Given the description of an element on the screen output the (x, y) to click on. 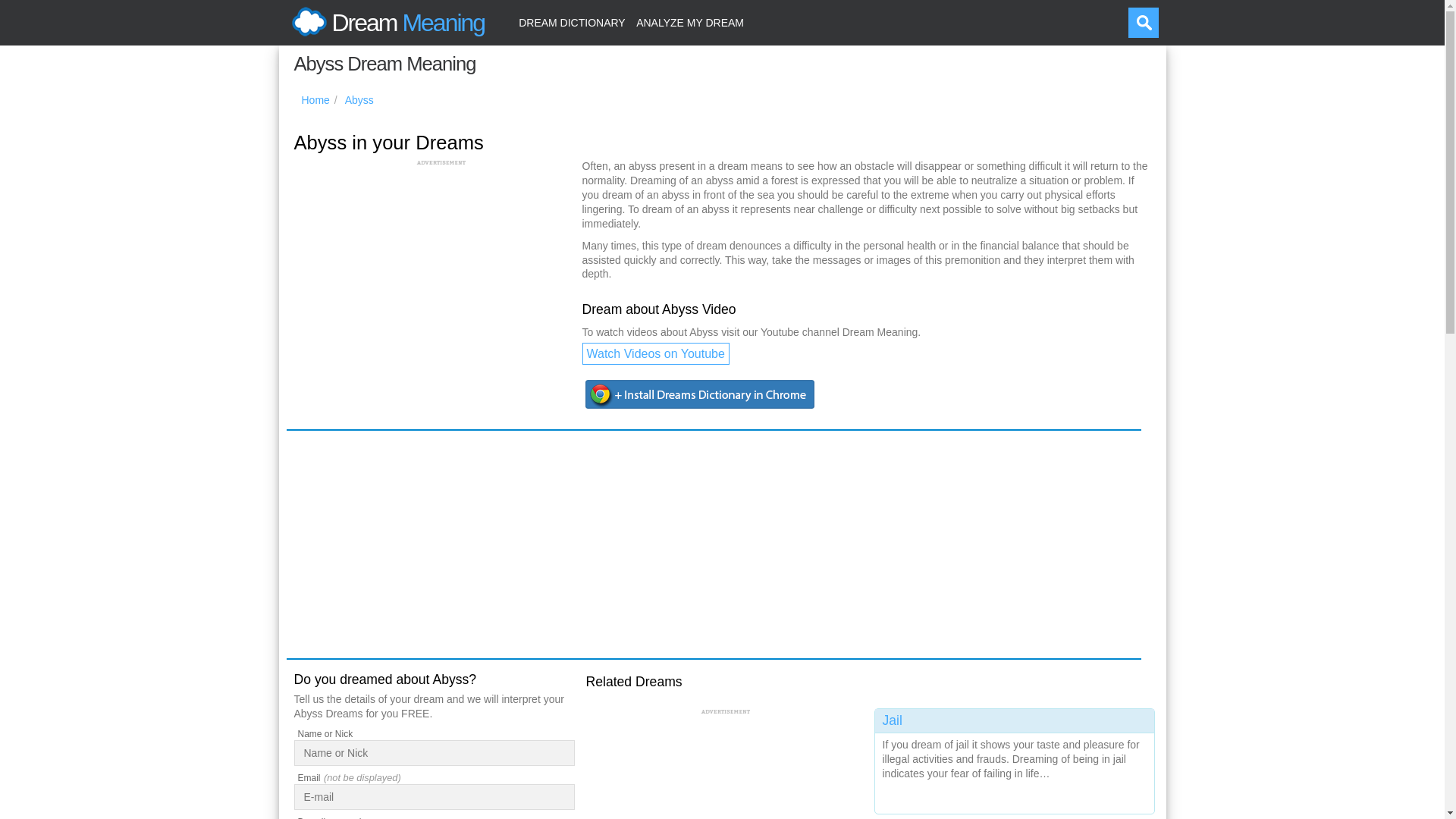
Dreams Meanings, Symbols and Interpretations (315, 100)
Watch Videos on Youtube (655, 353)
Abyss (359, 100)
Dream Meaning (385, 22)
Dreams Interpretation and Meaning (385, 22)
Analyze my Dream (690, 22)
Dream Dictionary (572, 22)
ANALYZE MY DREAM (690, 22)
Abyss Dreams Interpretations and Meanings Explained (359, 100)
DREAM DICTIONARY (572, 22)
Home (315, 100)
Jail Dream Meaning (1014, 757)
Dream Meaning Videos (655, 353)
Install Dreams Dictionary in Chrome (700, 394)
